Given the description of an element on the screen output the (x, y) to click on. 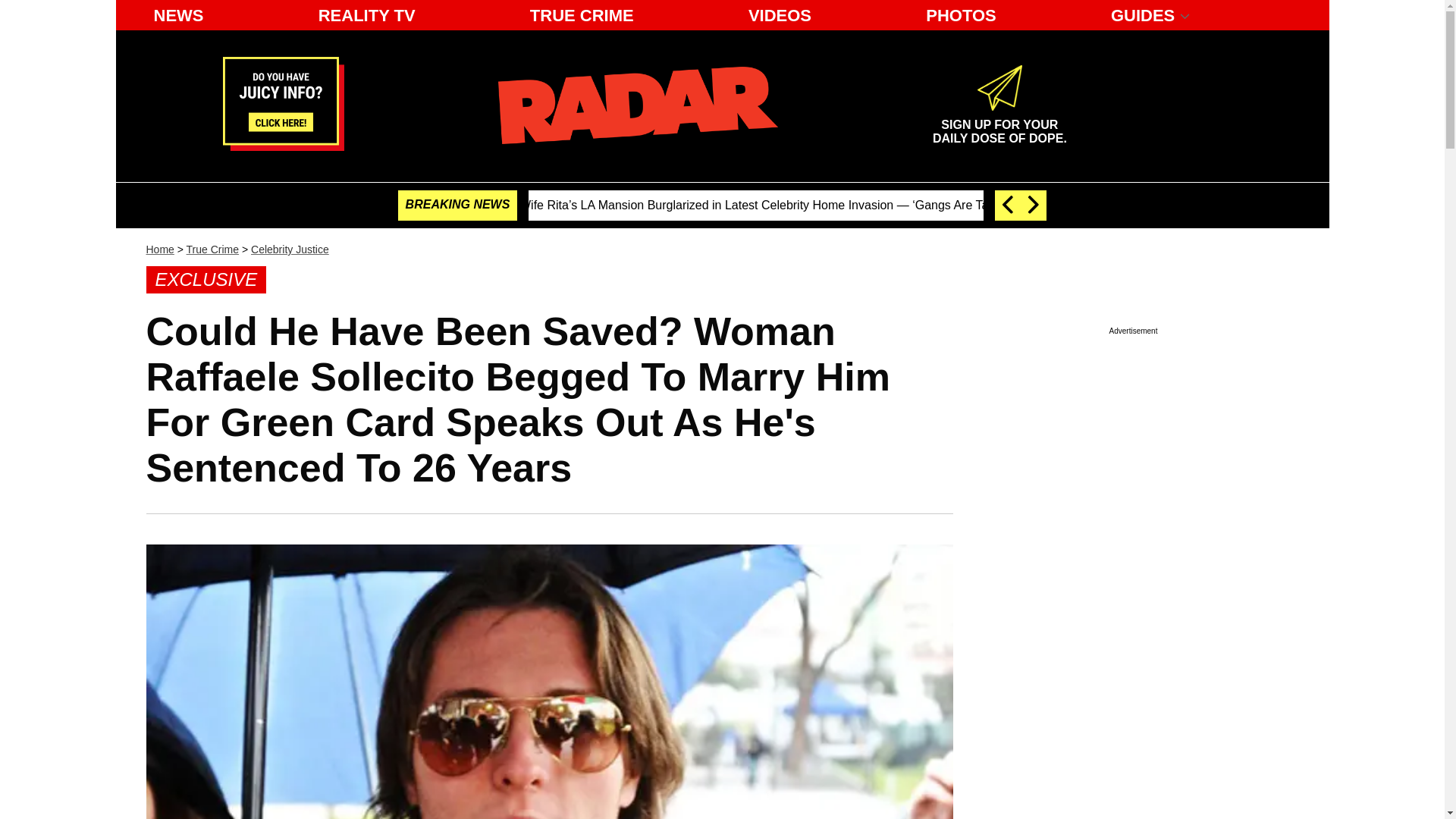
Home (159, 249)
True Crime (213, 249)
Celebrity Justice (289, 249)
NEWS (178, 15)
PHOTOS (961, 15)
Sign up for your daily dose of dope. (999, 124)
Email us your tip (282, 146)
Radar Online (999, 124)
TRUE CRIME (637, 105)
